Given the description of an element on the screen output the (x, y) to click on. 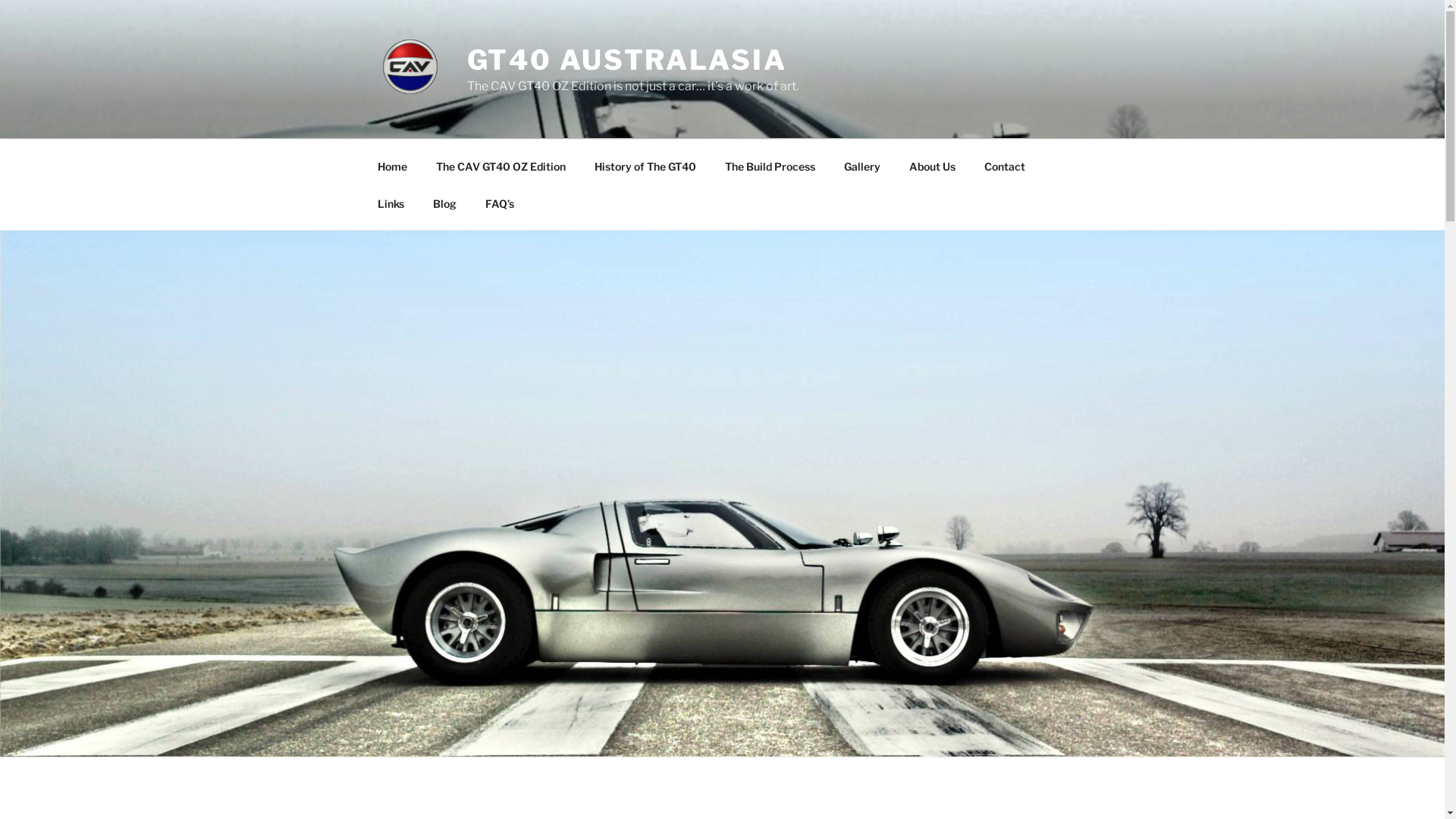
The Build Process Element type: text (769, 165)
Contact Element type: text (1004, 165)
About Us Element type: text (932, 165)
Gallery Element type: text (862, 165)
GT40 AUSTRALASIA Element type: text (627, 59)
Blog Element type: text (445, 203)
Links Element type: text (390, 203)
Home Element type: text (392, 165)
History of The GT40 Element type: text (644, 165)
The CAV GT40 OZ Edition Element type: text (501, 165)
